Given the description of an element on the screen output the (x, y) to click on. 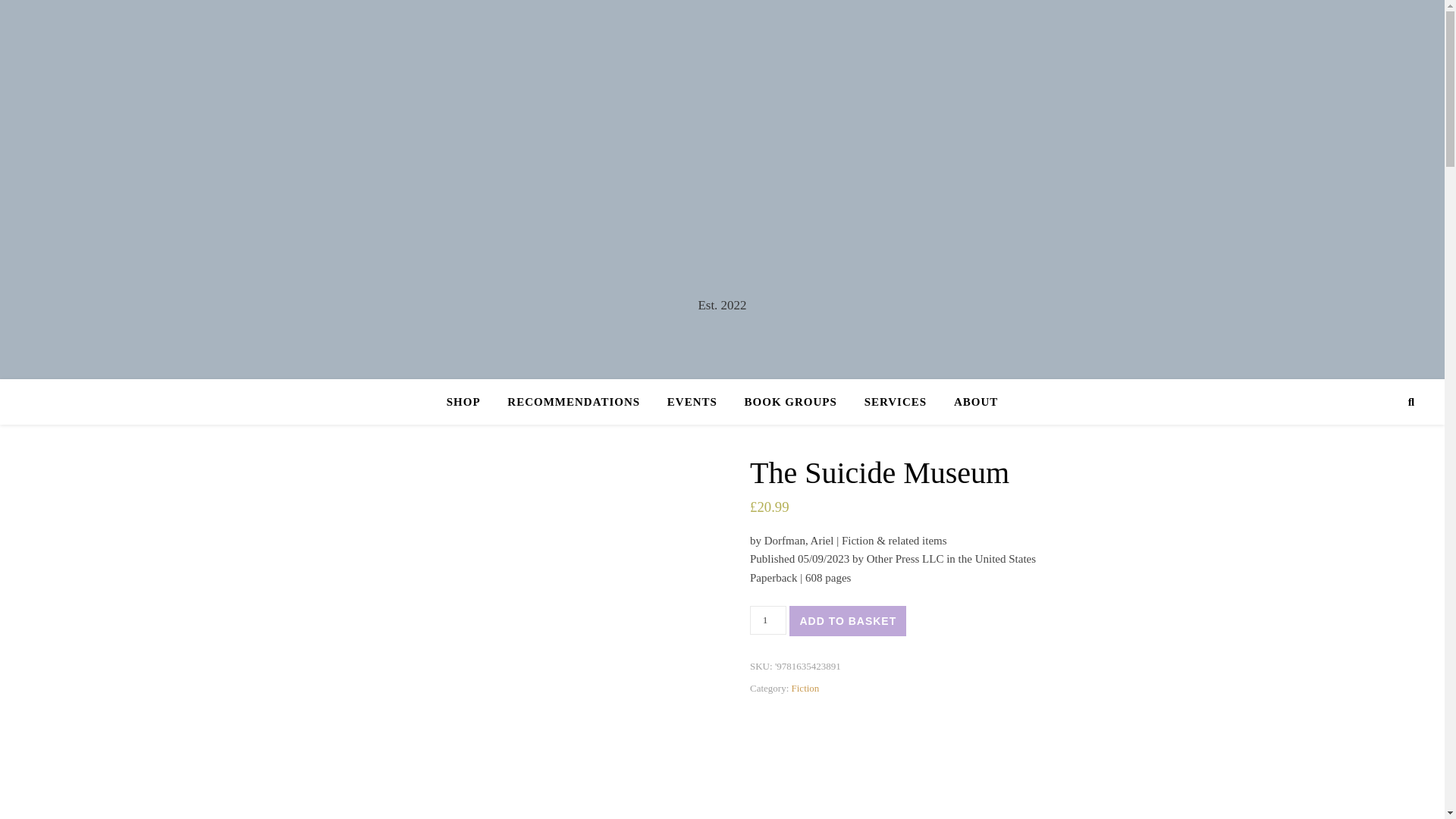
SERVICES (895, 402)
RECOMMENDATIONS (573, 402)
SHOP (469, 402)
1 (767, 620)
ADD TO BASKET (847, 621)
EVENTS (692, 402)
BOOK GROUPS (790, 402)
ABOUT (969, 402)
Heron Books (722, 175)
Fiction (805, 687)
